Given the description of an element on the screen output the (x, y) to click on. 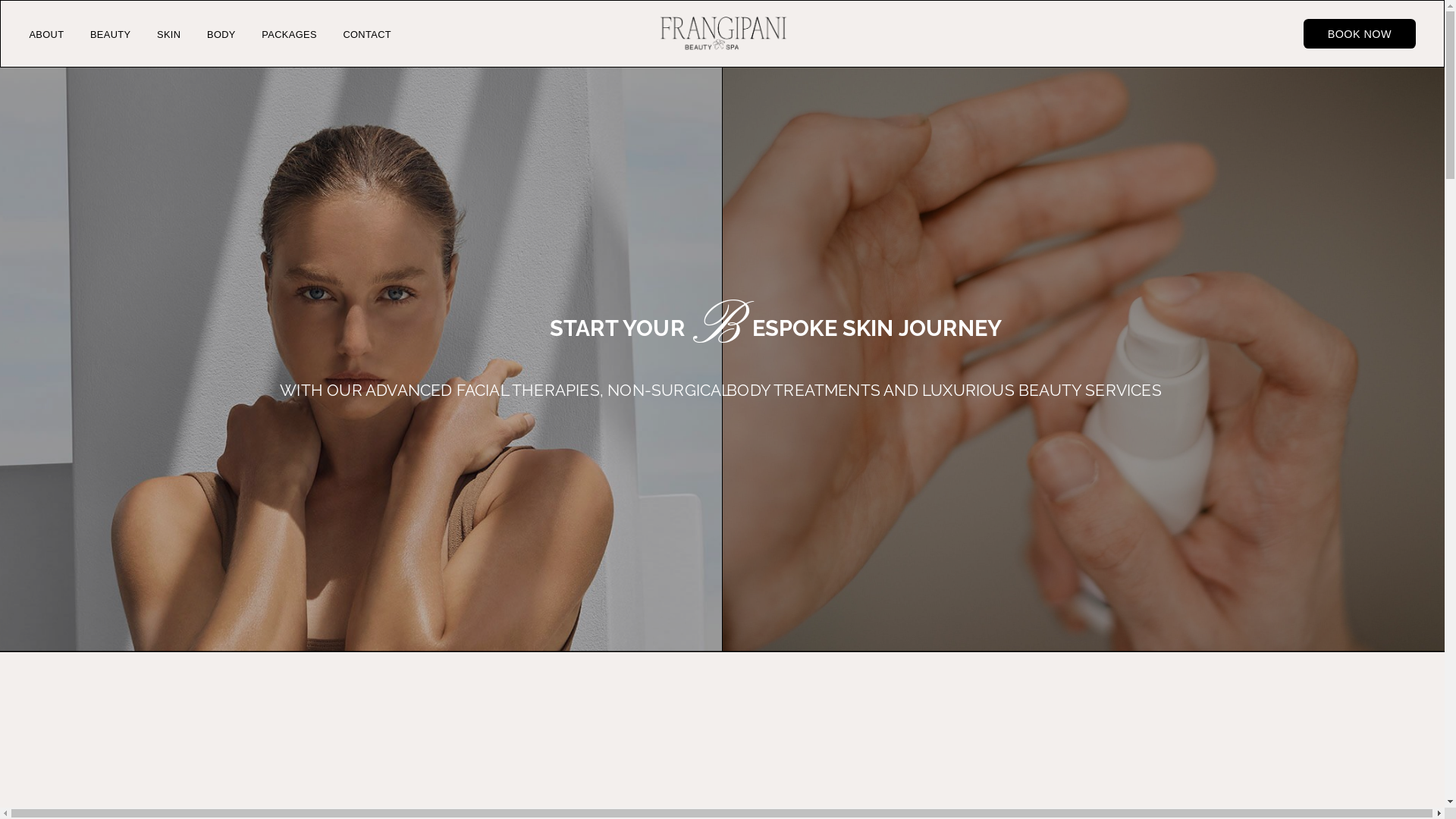
BEAUTY Element type: text (110, 34)
CONTACT Element type: text (366, 34)
ABOUT Element type: text (45, 34)
PACKAGES Element type: text (288, 34)
BODY Element type: text (221, 34)
BOOK NOW Element type: text (1359, 33)
SKIN Element type: text (168, 34)
